Given the description of an element on the screen output the (x, y) to click on. 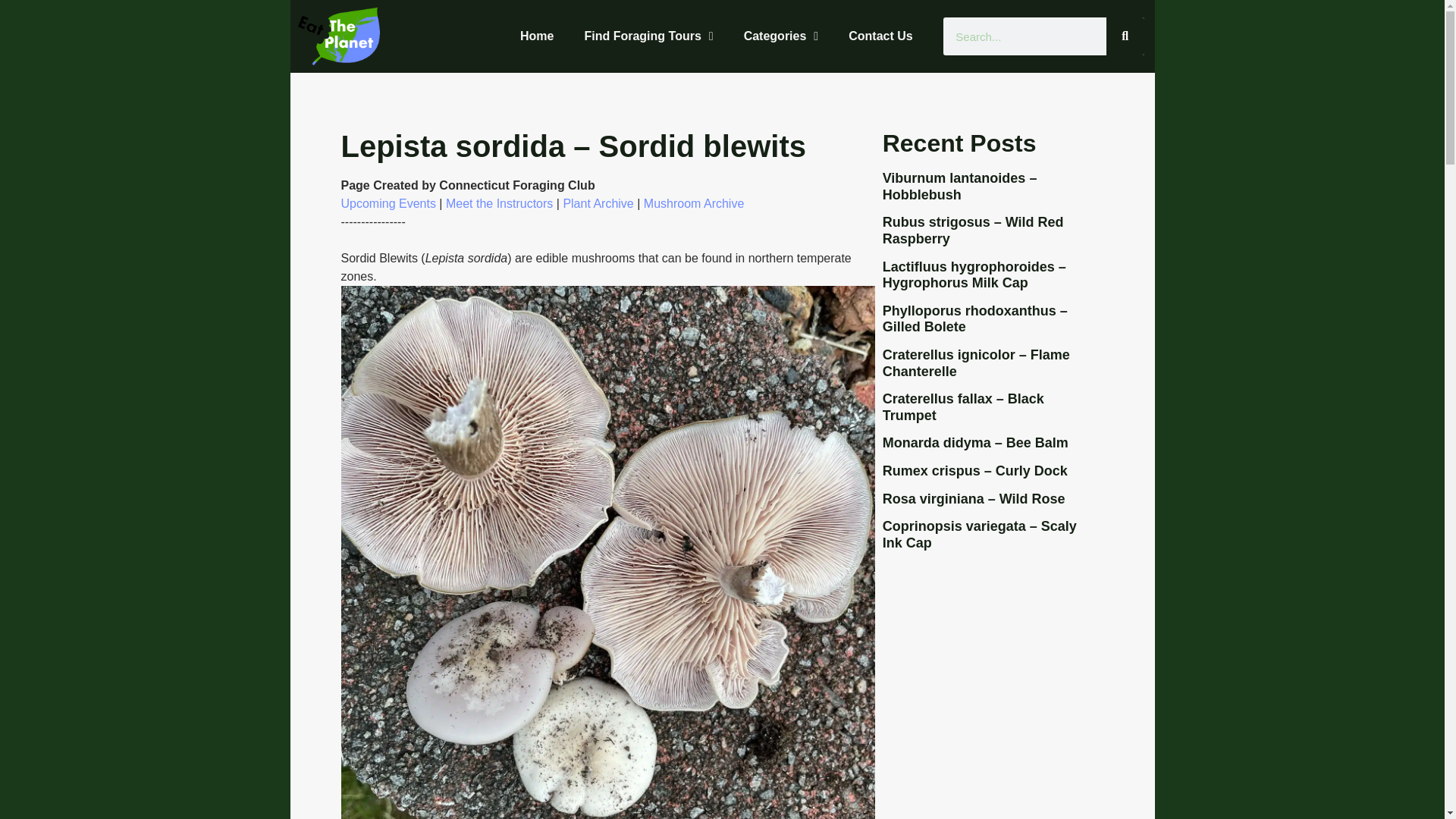
Contact Us (879, 36)
Meet the Instructors (499, 203)
Categories (781, 36)
Home (537, 36)
Find Foraging Tours (648, 36)
Mushroom Archive (693, 203)
Plant Archive (597, 203)
Upcoming Events (387, 203)
